Given the description of an element on the screen output the (x, y) to click on. 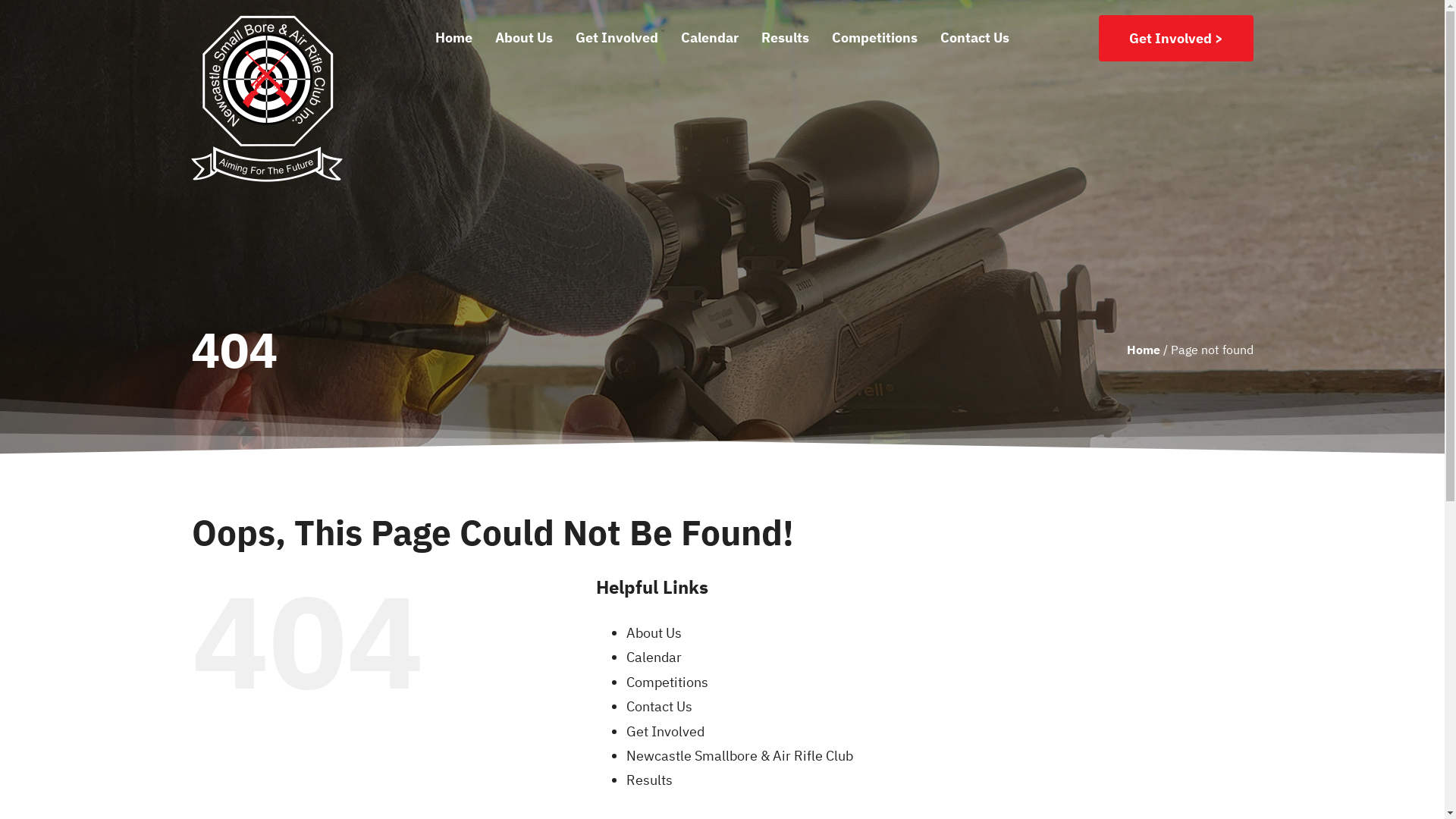
Home Element type: text (1143, 349)
About Us Element type: text (653, 632)
Home Element type: text (453, 38)
Competitions Element type: text (874, 38)
Newcastle Smallbore & Air Rifle Club Element type: text (739, 755)
Contact Us Element type: text (659, 706)
Get Involved Element type: text (616, 38)
Calendar Element type: text (709, 38)
Competitions Element type: text (667, 681)
Results Element type: text (649, 779)
Contact Us Element type: text (974, 38)
Get Involved > Element type: text (1175, 38)
About Us Element type: text (523, 38)
Get Involved Element type: text (665, 731)
Results Element type: text (785, 38)
Calendar Element type: text (653, 656)
